Given the description of an element on the screen output the (x, y) to click on. 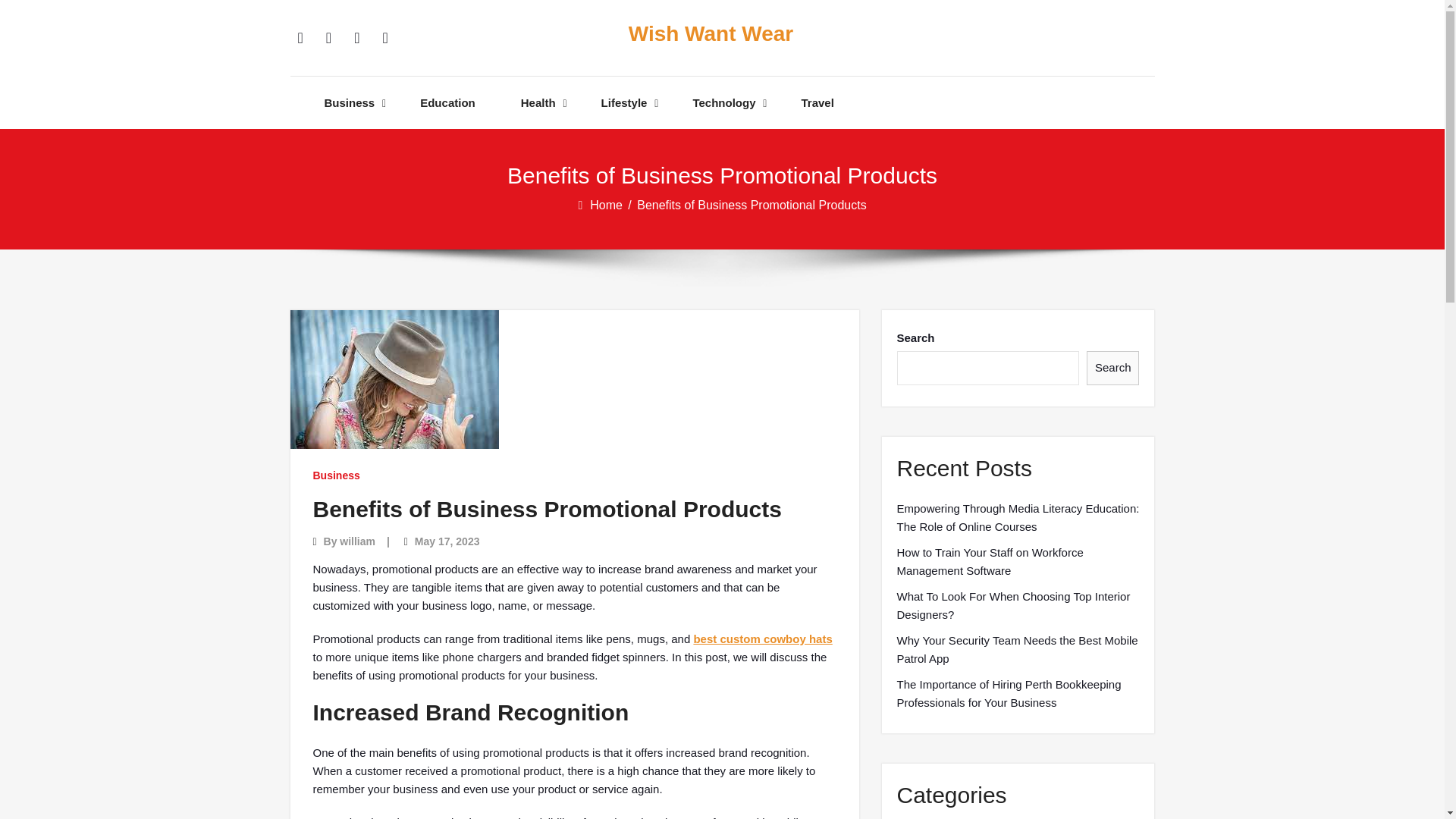
best custom cowboy hats (762, 638)
Home (606, 205)
Business (349, 102)
Education (448, 102)
Lifestyle (624, 102)
william (357, 541)
May 17, 2023 (447, 541)
Travel (816, 102)
Wish Want Wear (710, 34)
How to Train Your Staff on Workforce Management Software (1017, 561)
Why Your Security Team Needs the Best Mobile Patrol App (1017, 649)
Health (538, 102)
What To Look For When Choosing Top Interior Designers? (1017, 606)
